Given the description of an element on the screen output the (x, y) to click on. 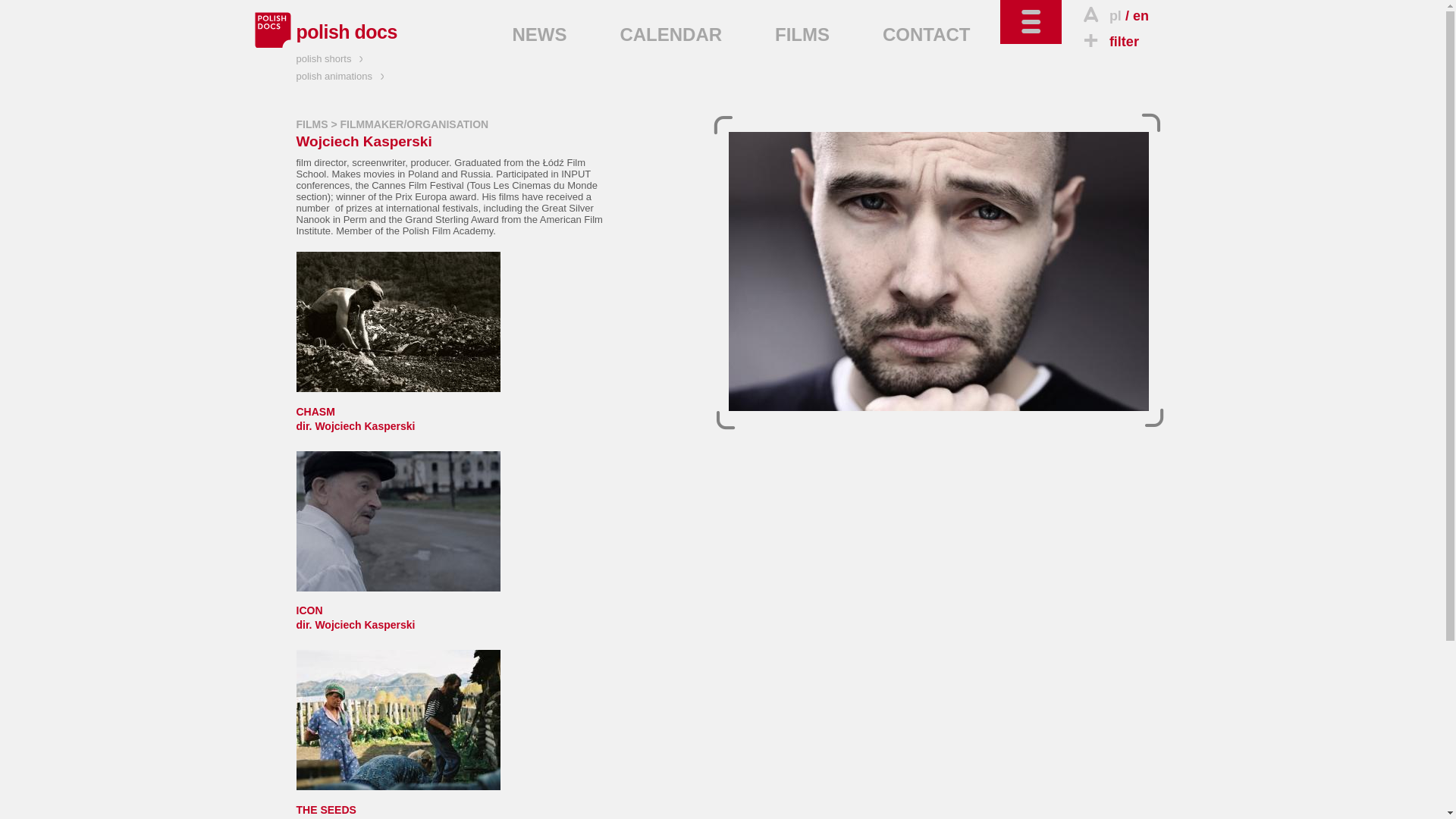
polish shorts (331, 58)
polish animations (397, 804)
polish docs (341, 75)
en (397, 610)
FILMS (345, 31)
filter (1140, 15)
NEWS (801, 34)
FILMS (1109, 41)
english version (539, 34)
CALENDAR (311, 123)
CONTACT (1140, 15)
